Given the description of an element on the screen output the (x, y) to click on. 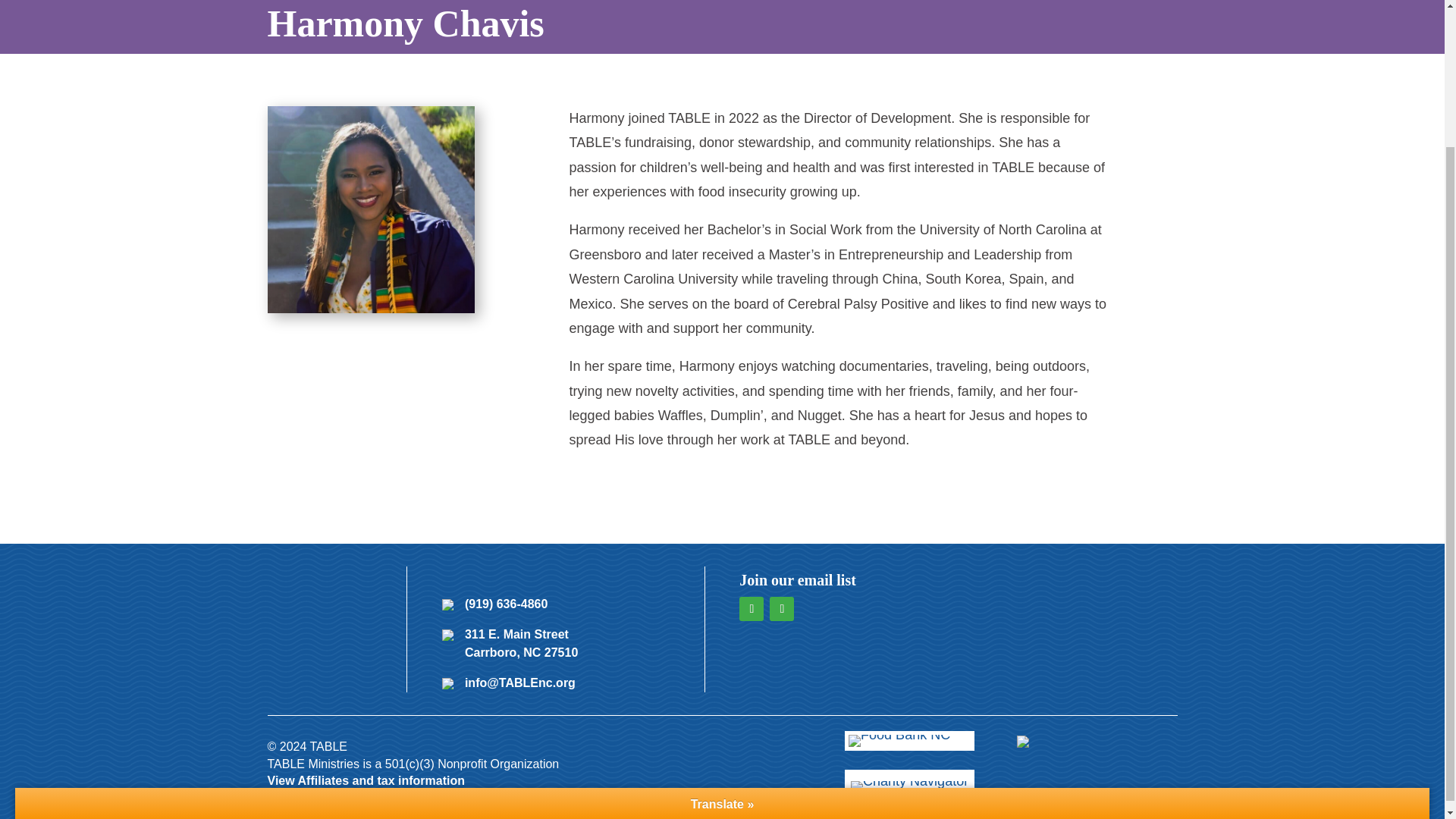
food-bank (899, 740)
Follow on Facebook (750, 608)
Follow on Instagram (781, 608)
